Given the description of an element on the screen output the (x, y) to click on. 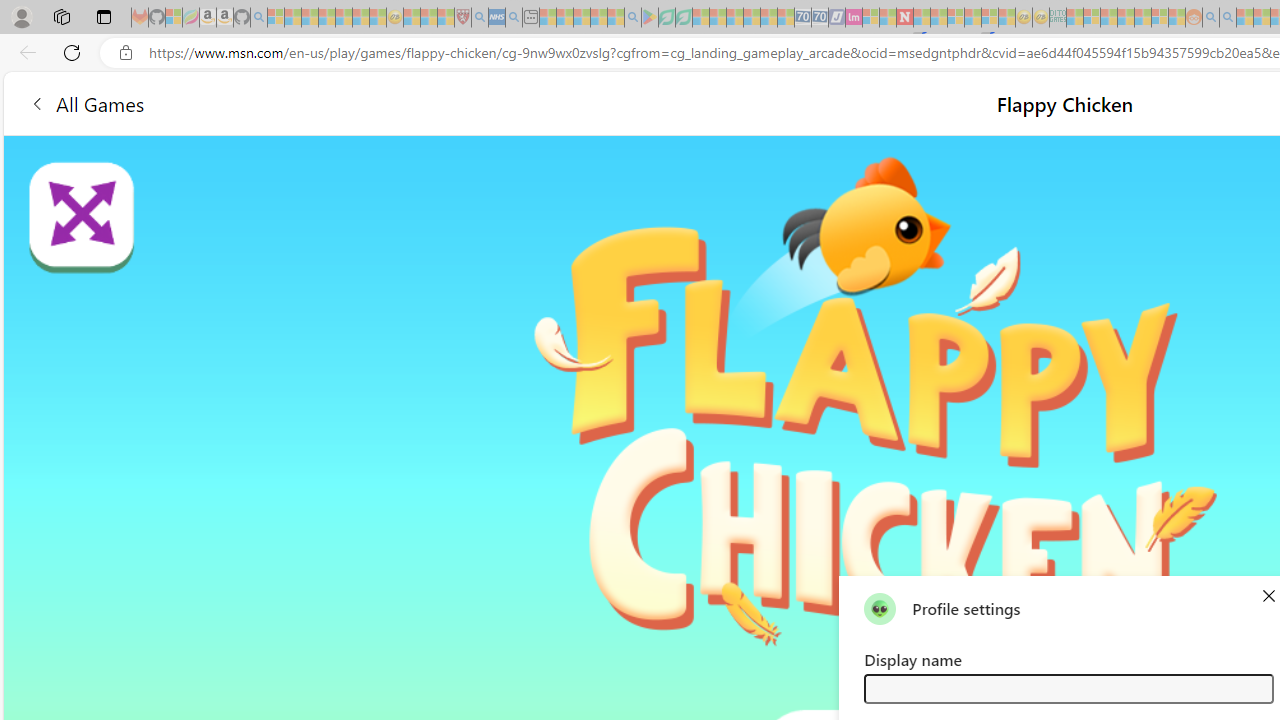
Recipes - MSN - Sleeping (411, 17)
Expert Portfolios - Sleeping (1125, 17)
utah sues federal government - Search - Sleeping (513, 17)
New Report Confirms 2023 Was Record Hot | Watch - Sleeping (343, 17)
